Given the description of an element on the screen output the (x, y) to click on. 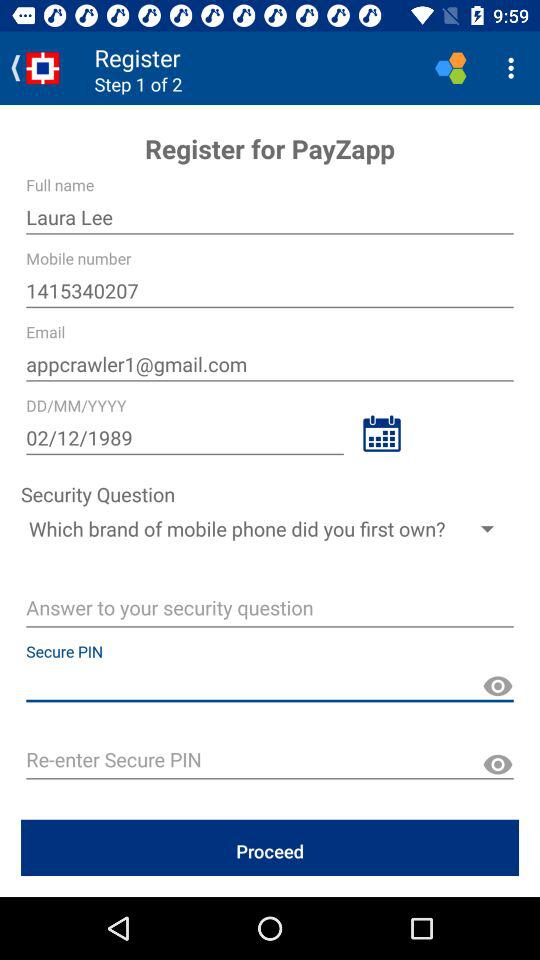
show pin (498, 764)
